Given the description of an element on the screen output the (x, y) to click on. 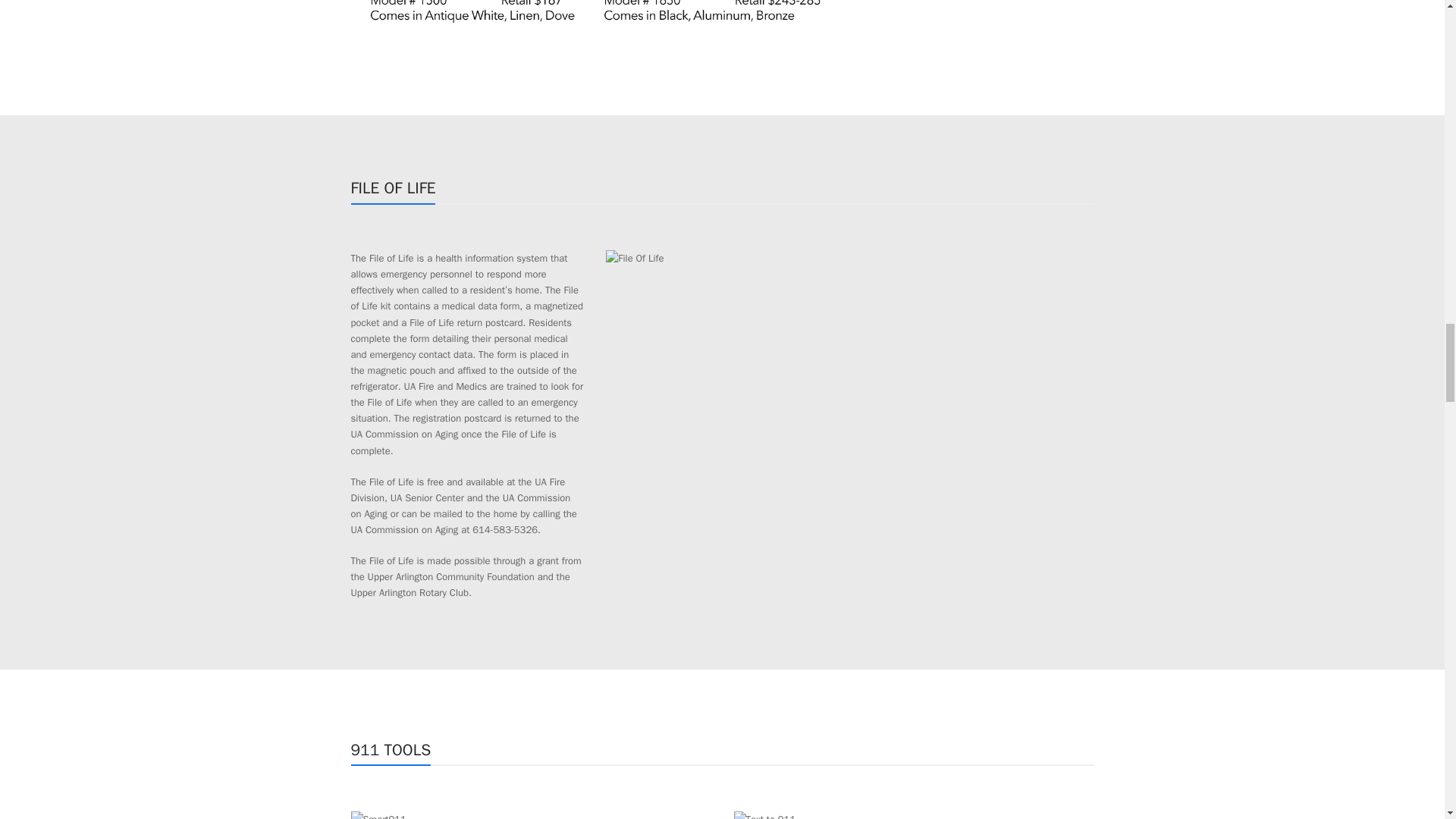
Text to 911 (764, 815)
Smart911 (378, 815)
File Of Life (634, 258)
Knox Box (594, 27)
